Given the description of an element on the screen output the (x, y) to click on. 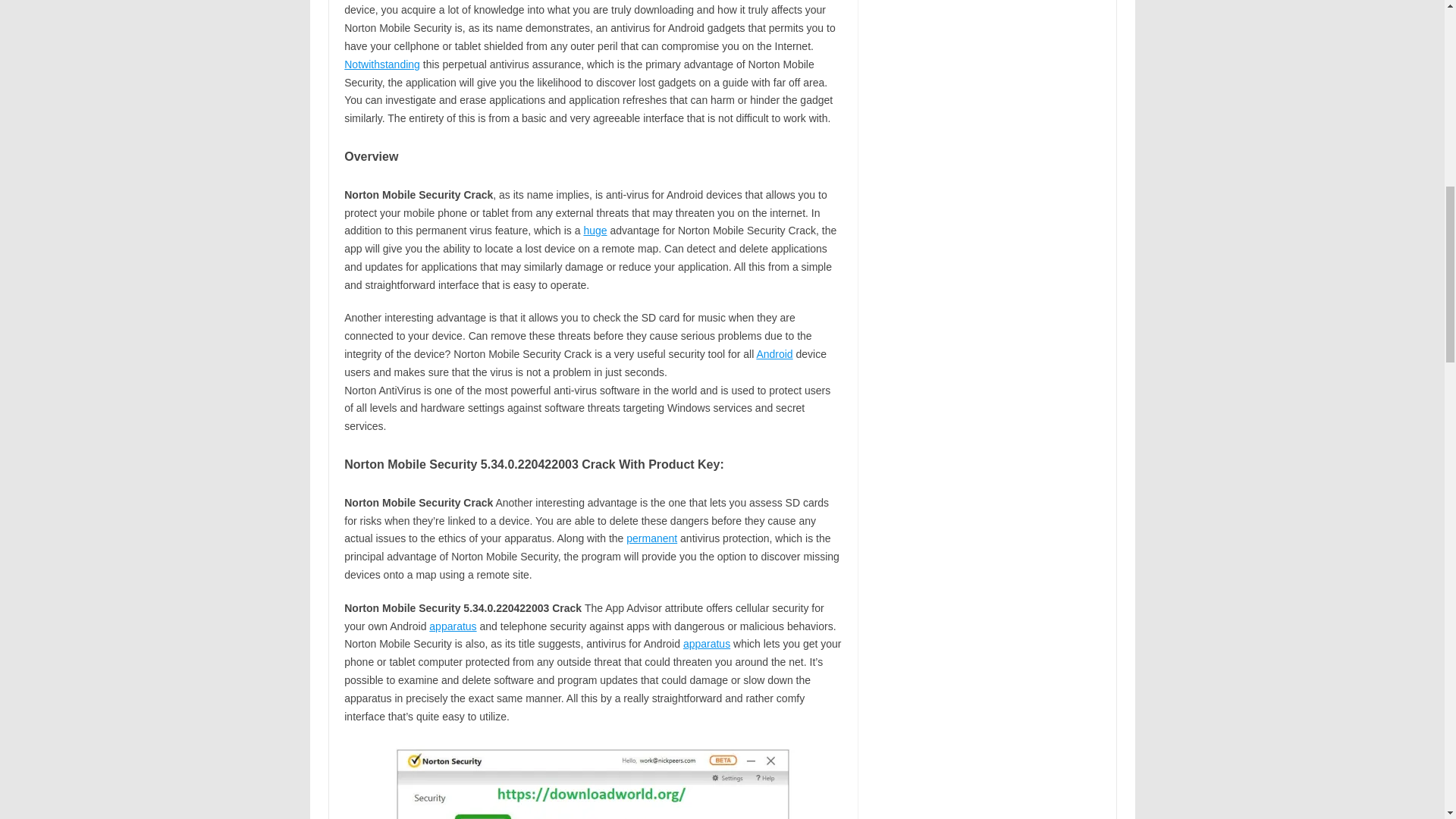
permanent (651, 538)
apparatus (452, 625)
apparatus (706, 644)
Android (773, 354)
huge (595, 230)
Notwithstanding (381, 64)
